Given the description of an element on the screen output the (x, y) to click on. 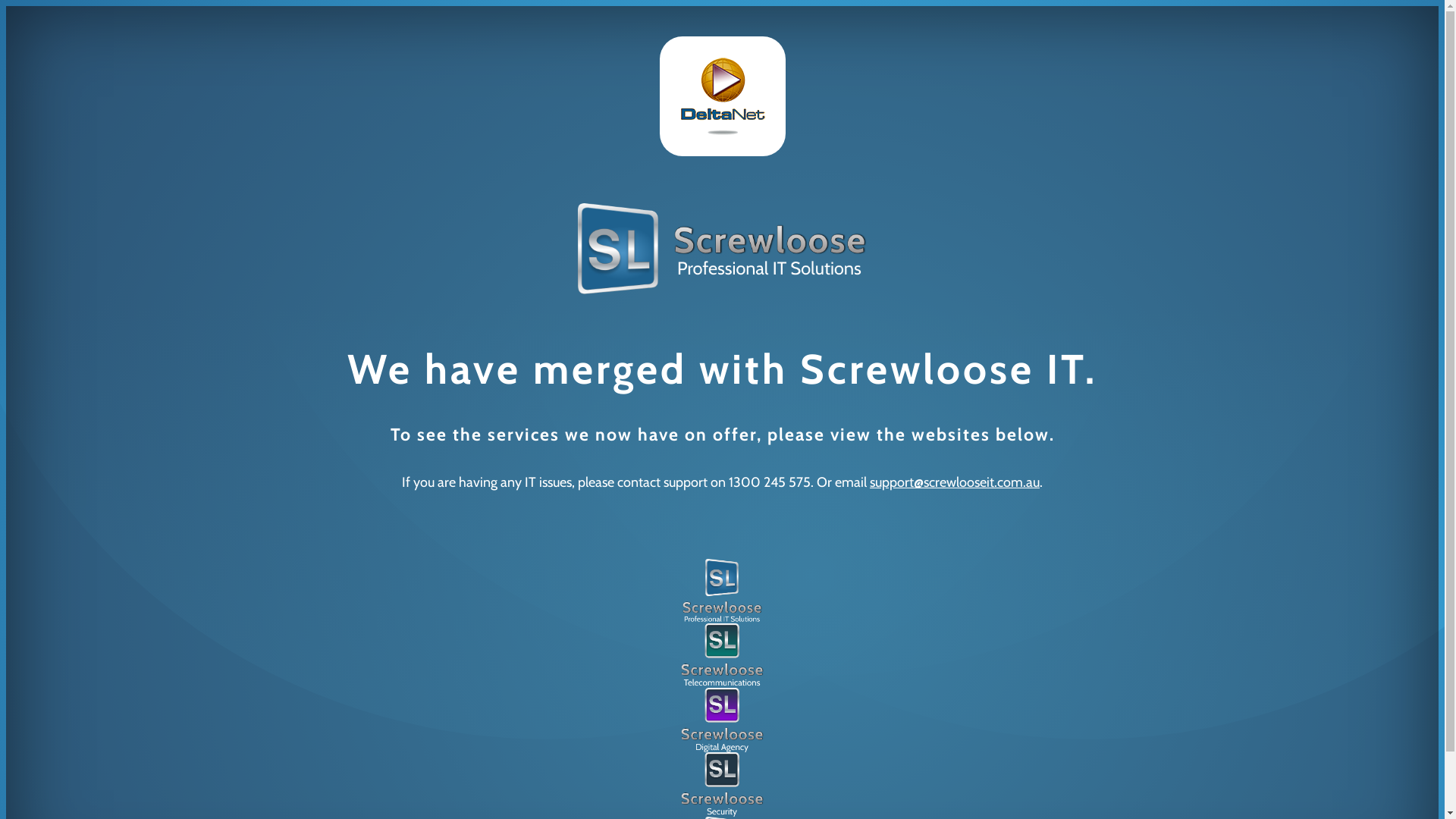
support@screwlooseit.com.au Element type: text (954, 481)
